Given the description of an element on the screen output the (x, y) to click on. 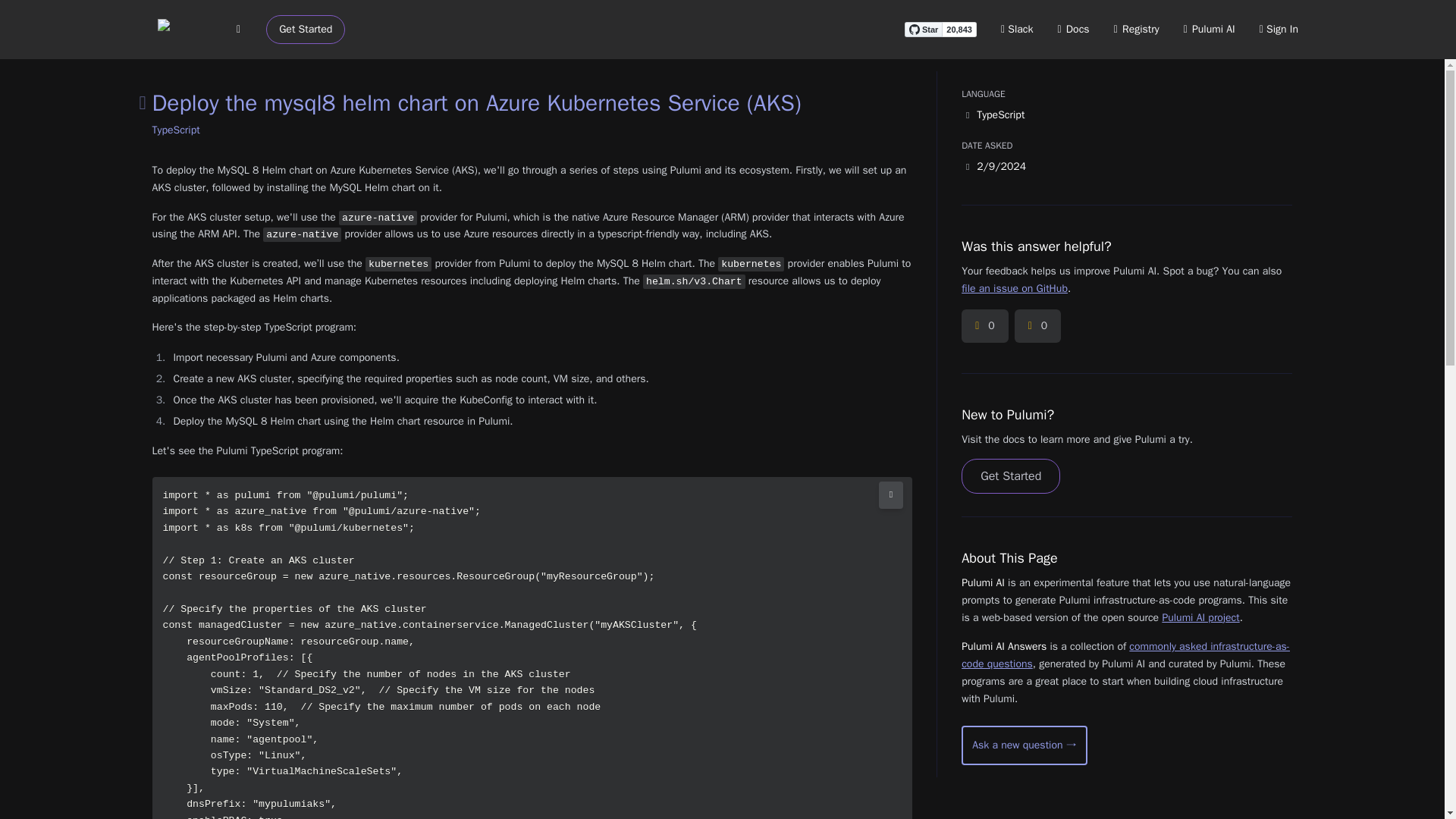
Get Started (305, 29)
Get Started (1009, 475)
Pulumi AI (1208, 29)
 Star (923, 29)
0 (984, 326)
file an issue on GitHub (1013, 287)
Sign In (1278, 29)
Upvote this answer (984, 326)
Docs (1073, 29)
Start a new conversation with Pulumi AI (1023, 744)
